Given the description of an element on the screen output the (x, y) to click on. 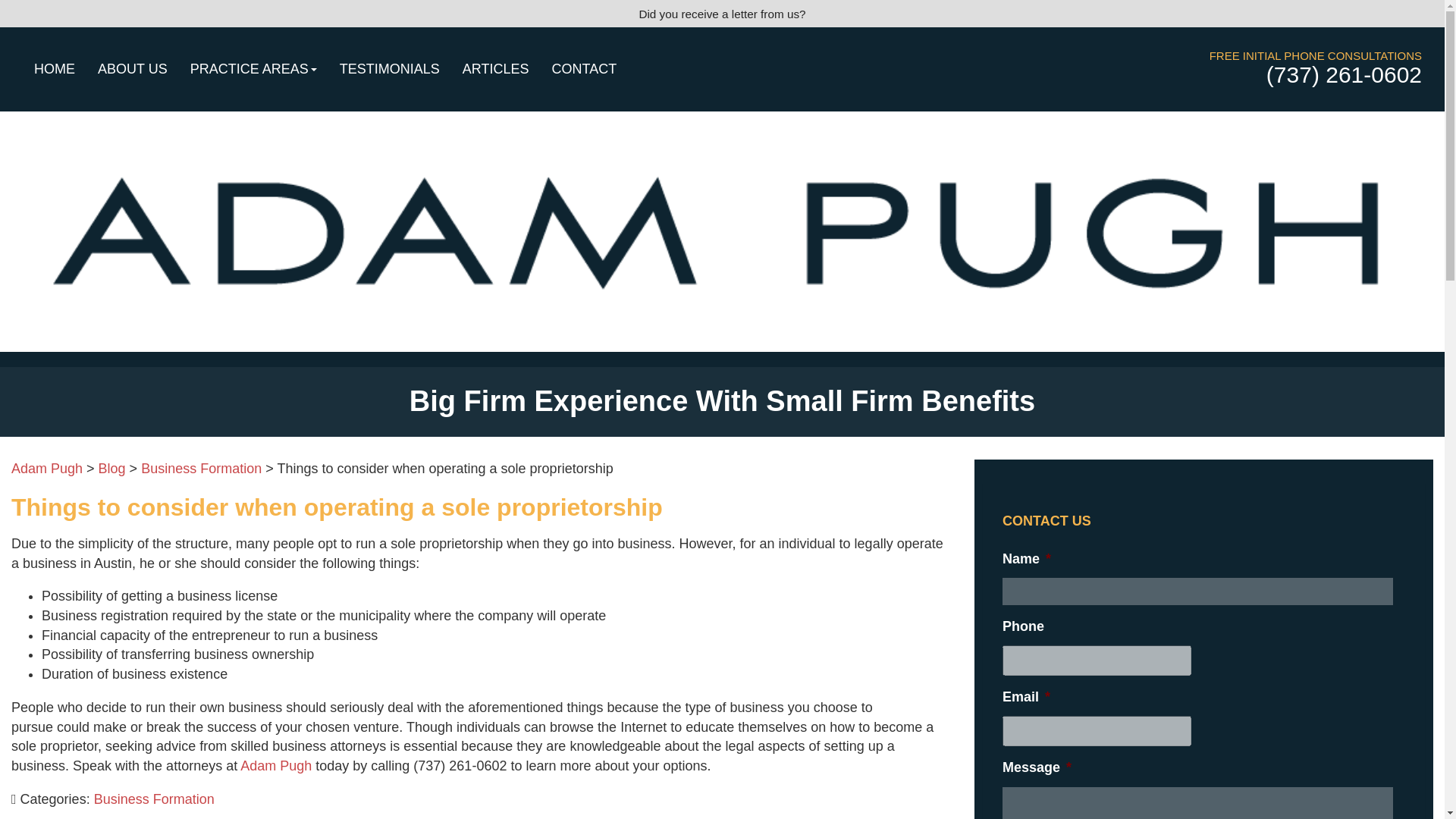
Go to Blog. (112, 468)
HOME (54, 68)
Business Formation (201, 468)
Did you receive a letter from us? (722, 13)
Go to Adam Pugh. (46, 468)
Go to the Business Formation Category archives. (201, 468)
CONTACT (583, 68)
Blog (112, 468)
Adam Pugh (275, 765)
Business Formation (154, 798)
Adam Pugh (46, 468)
ABOUT US (132, 68)
ARTICLES (495, 68)
TESTIMONIALS (390, 68)
PRACTICE AREAS (254, 68)
